Given the description of an element on the screen output the (x, y) to click on. 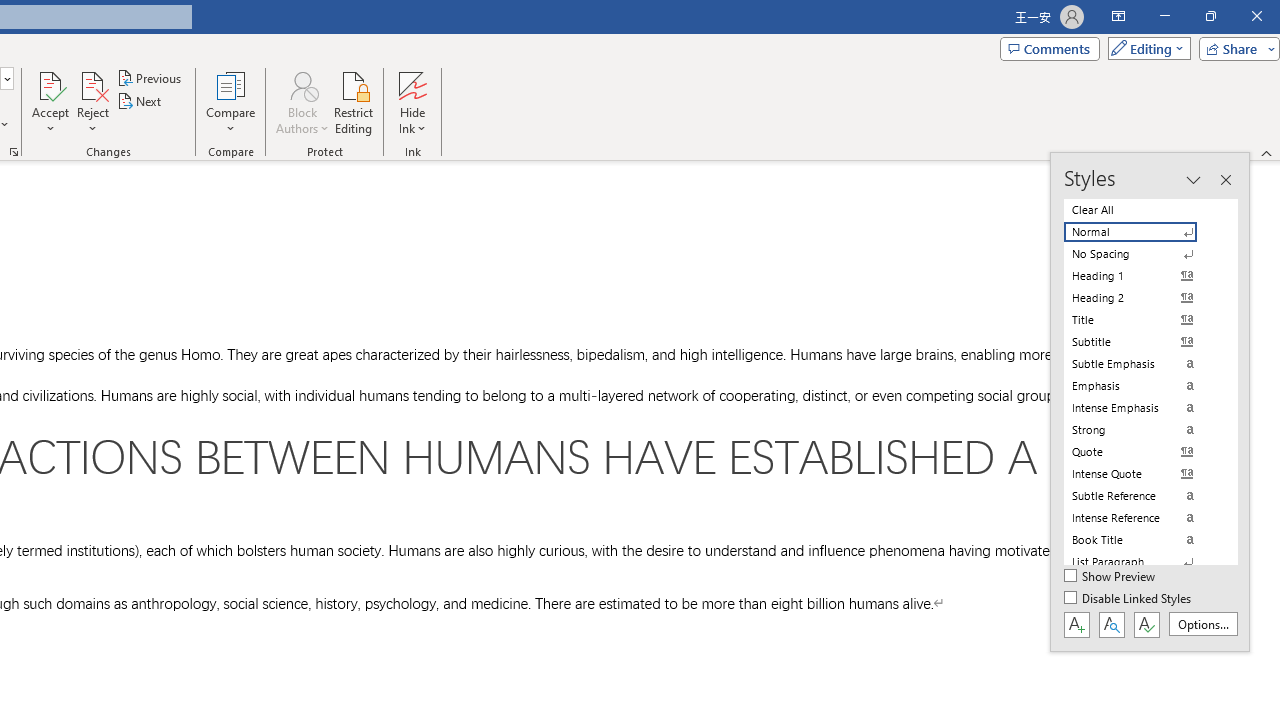
Change Tracking Options... (13, 151)
List Paragraph (1142, 561)
Accept and Move to Next (50, 84)
Reject and Move to Next (92, 84)
Intense Quote (1142, 473)
Compare (230, 102)
